Given the description of an element on the screen output the (x, y) to click on. 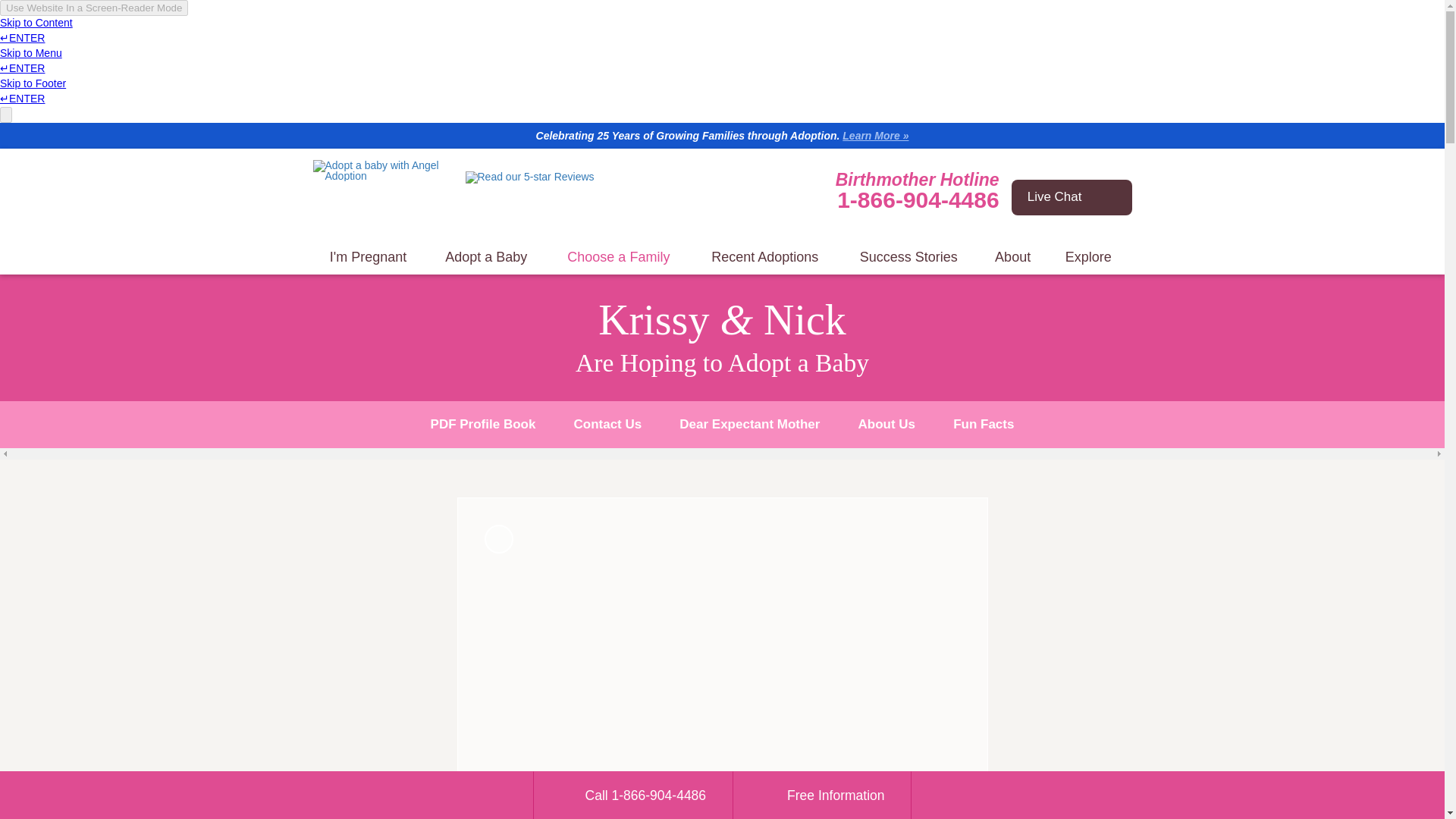
1-866-904-4486 (917, 199)
Waiting Families (618, 257)
Adopt a Baby (486, 257)
I'm Pregnant (368, 257)
Live Chat (1071, 197)
